Given the description of an element on the screen output the (x, y) to click on. 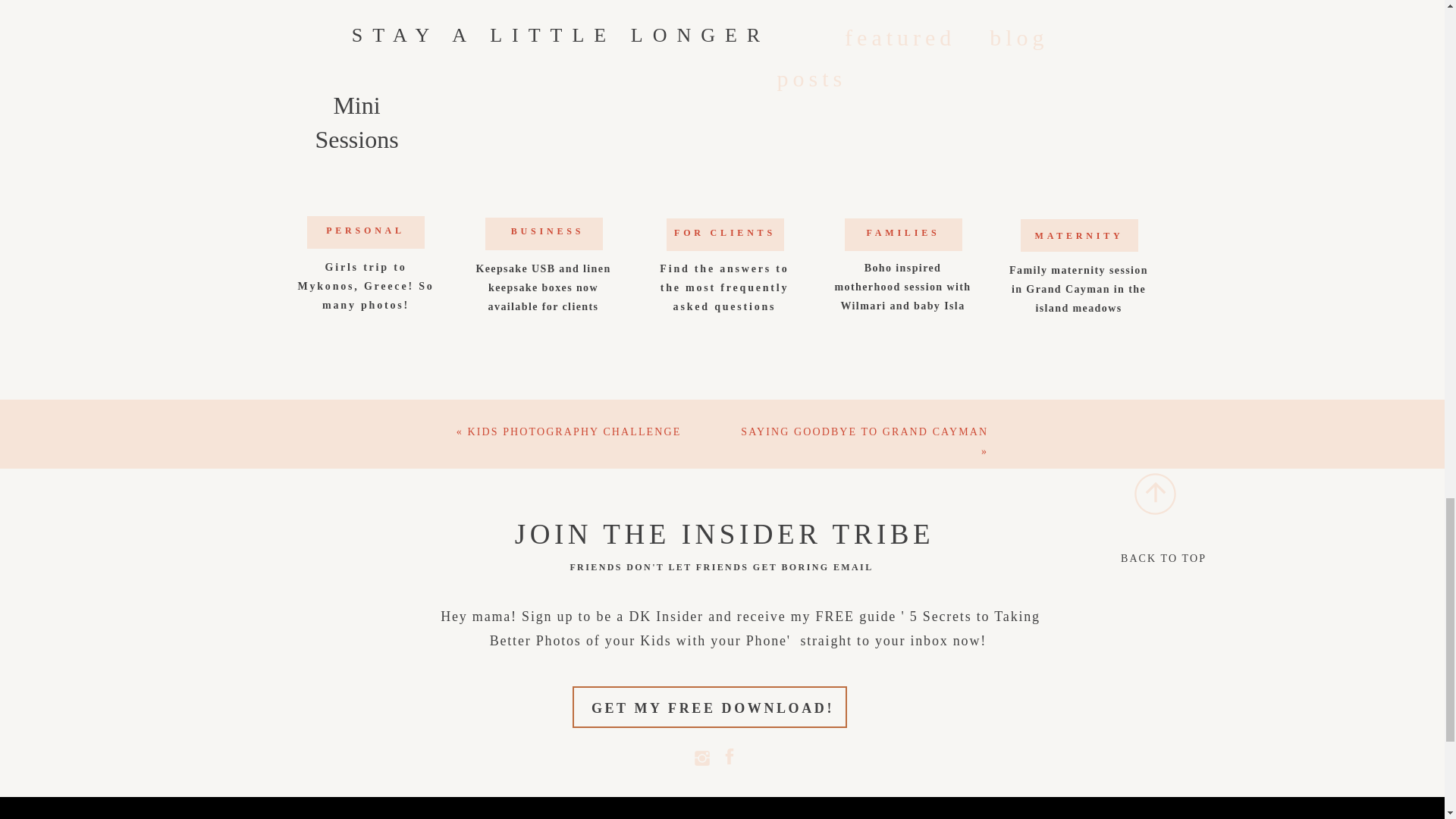
KIDS PHOTOGRAPHY CHALLENGE (574, 431)
Girls trip to Mykonos, Greece! So many photos! (366, 282)
Boho inspired motherhood session with Wilmari and baby Isla (903, 282)
Find the answers to the most frequently asked questions (724, 283)
Mini Sessions (357, 101)
SAYING GOODBYE TO GRAND CAYMAN (864, 431)
